Given the description of an element on the screen output the (x, y) to click on. 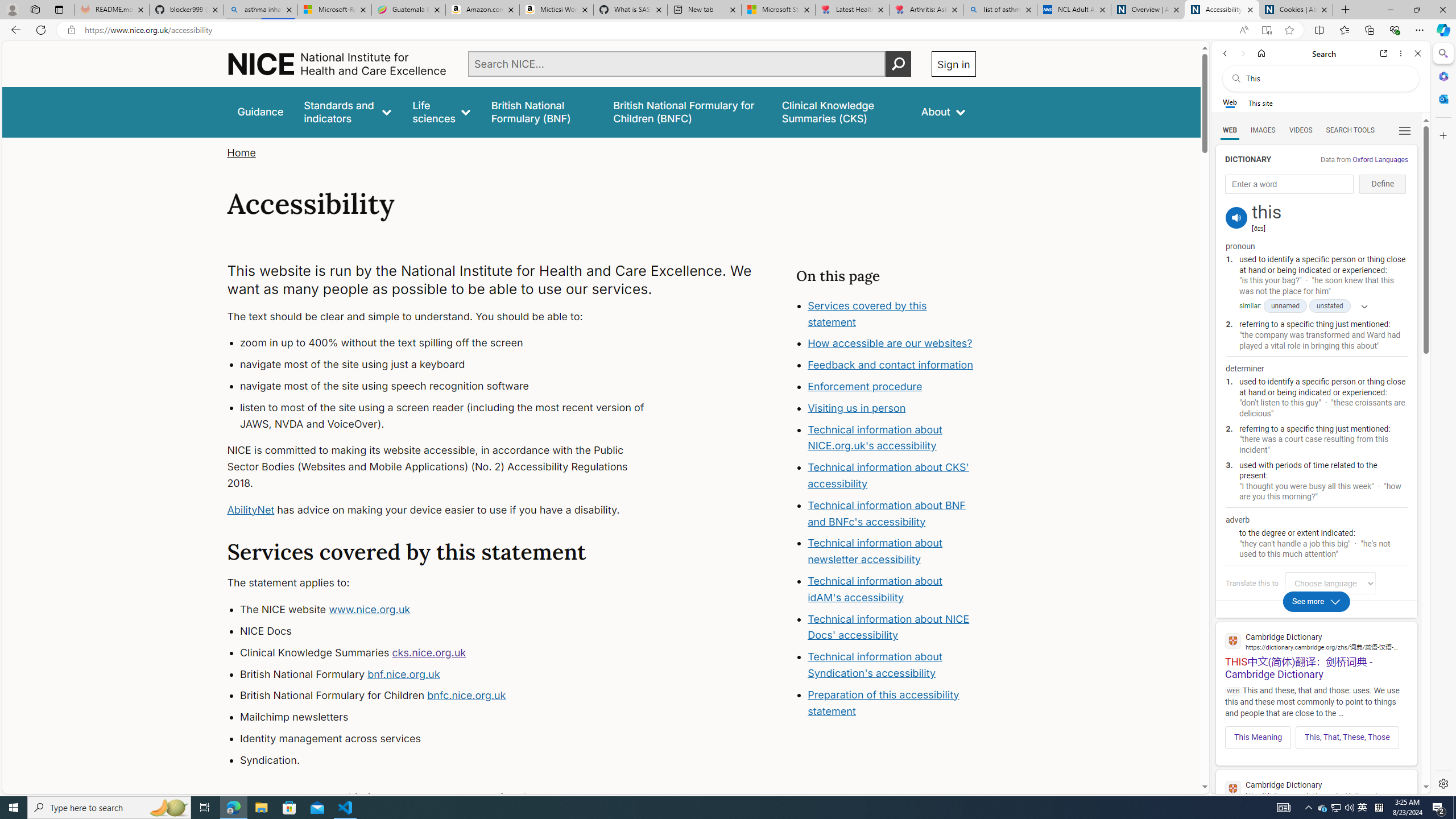
Technical information about CKS' accessibility (888, 475)
Search Filter, IMAGES (1262, 129)
Guidance (260, 111)
How accessible are our websites? (891, 343)
Perform search (898, 63)
Technical information about NICE Docs' accessibility (888, 626)
Technical information about Syndication's accessibility (875, 664)
Services covered by this statement (867, 313)
